Given the description of an element on the screen output the (x, y) to click on. 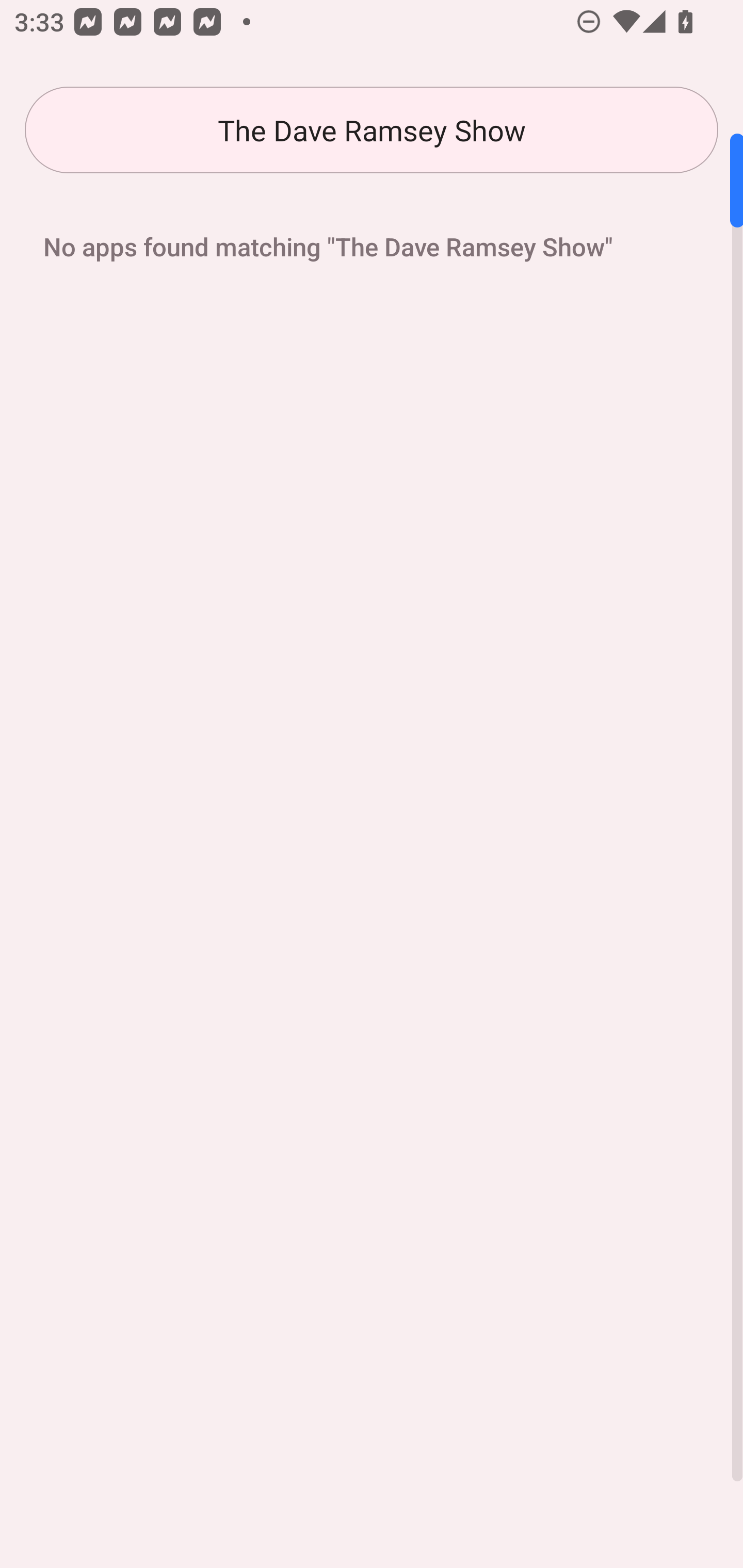
The Dave Ramsey Show (371, 130)
